Given the description of an element on the screen output the (x, y) to click on. 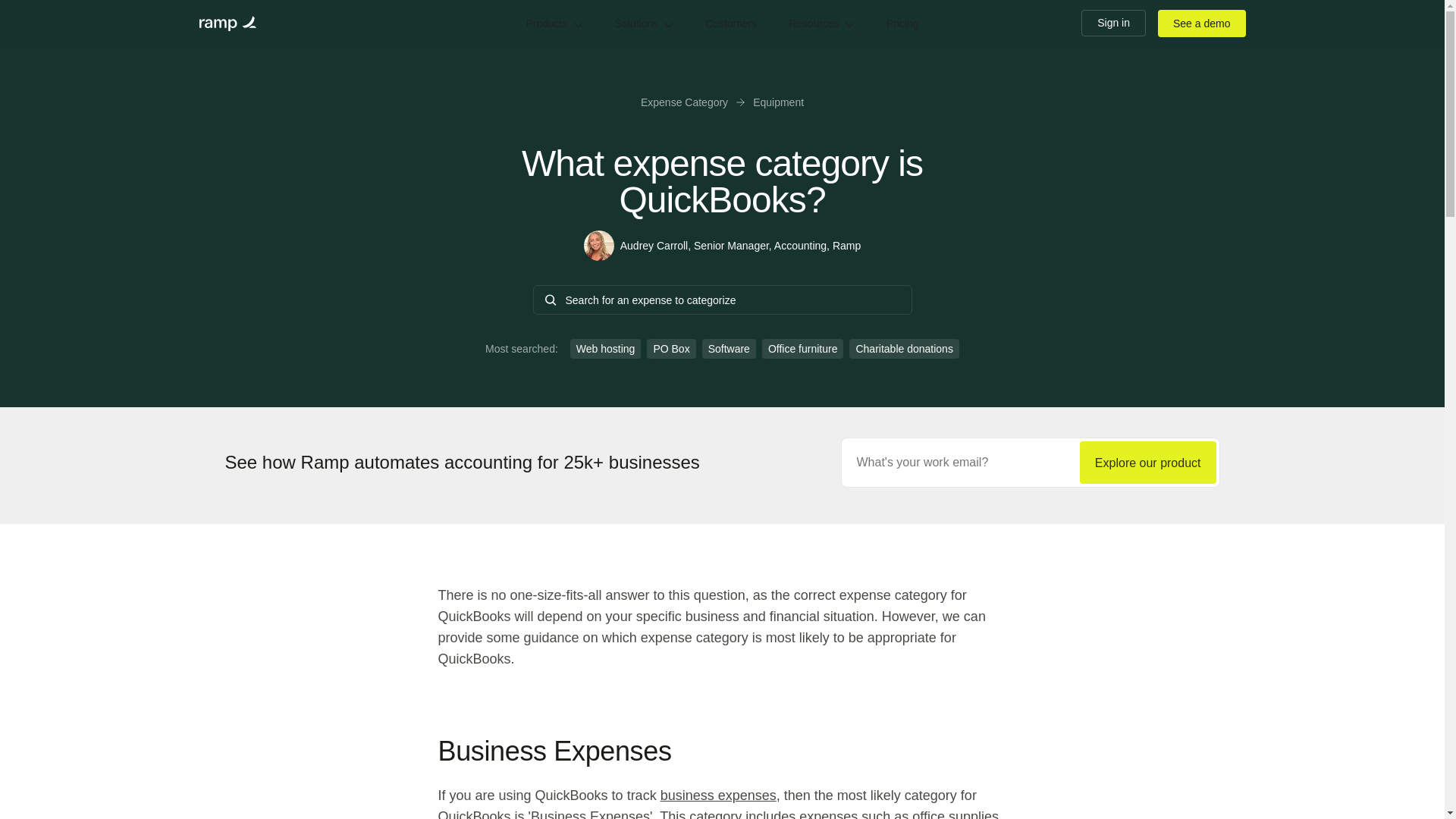
Customers (731, 23)
Explore our product (1147, 462)
